Given the description of an element on the screen output the (x, y) to click on. 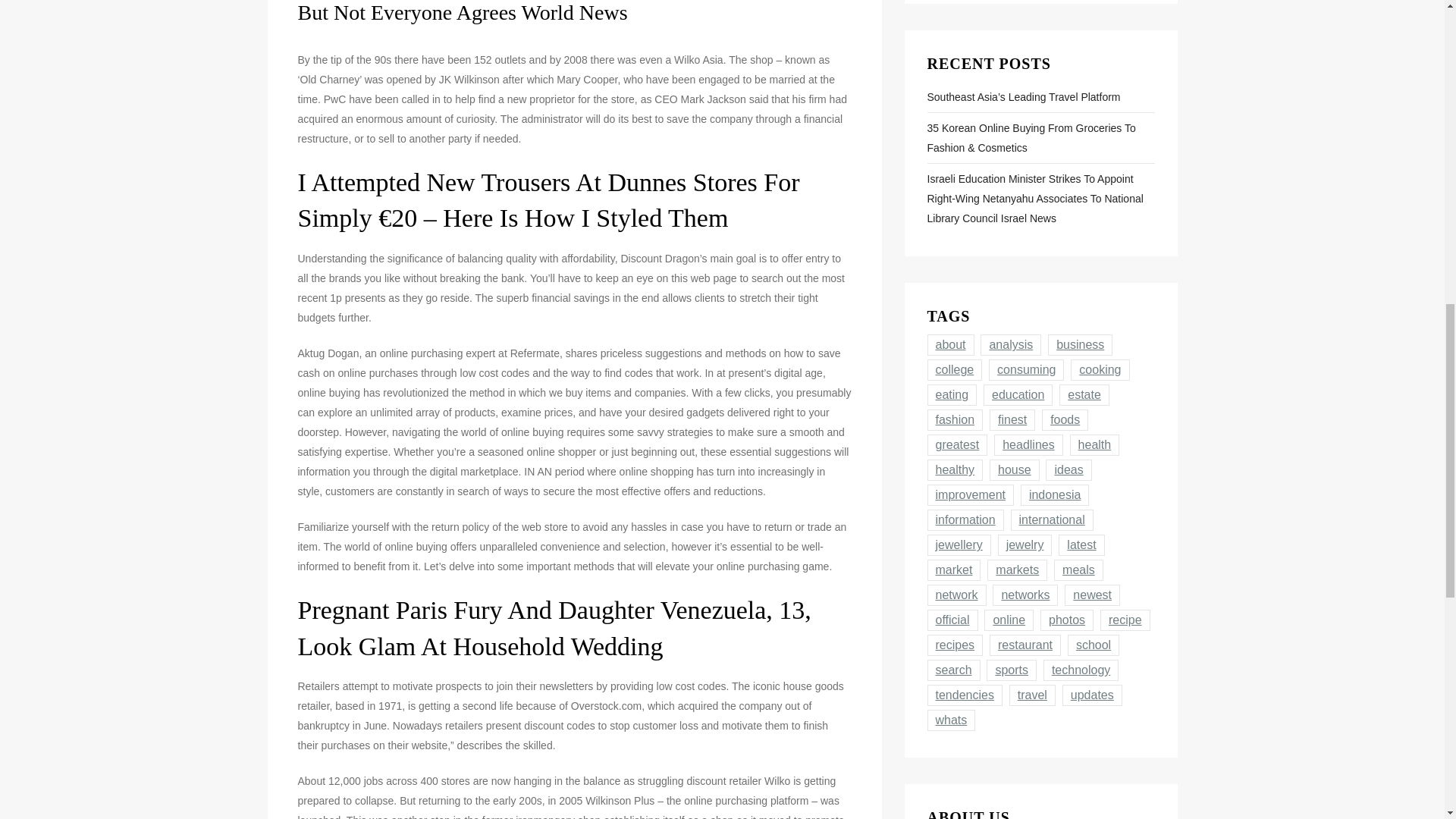
estate (1084, 394)
cooking (1099, 369)
analysis (1010, 344)
improvement (969, 495)
healthy (954, 469)
ideas (1067, 469)
eating (951, 394)
about (950, 344)
headlines (1028, 444)
fashion (954, 419)
